Given the description of an element on the screen output the (x, y) to click on. 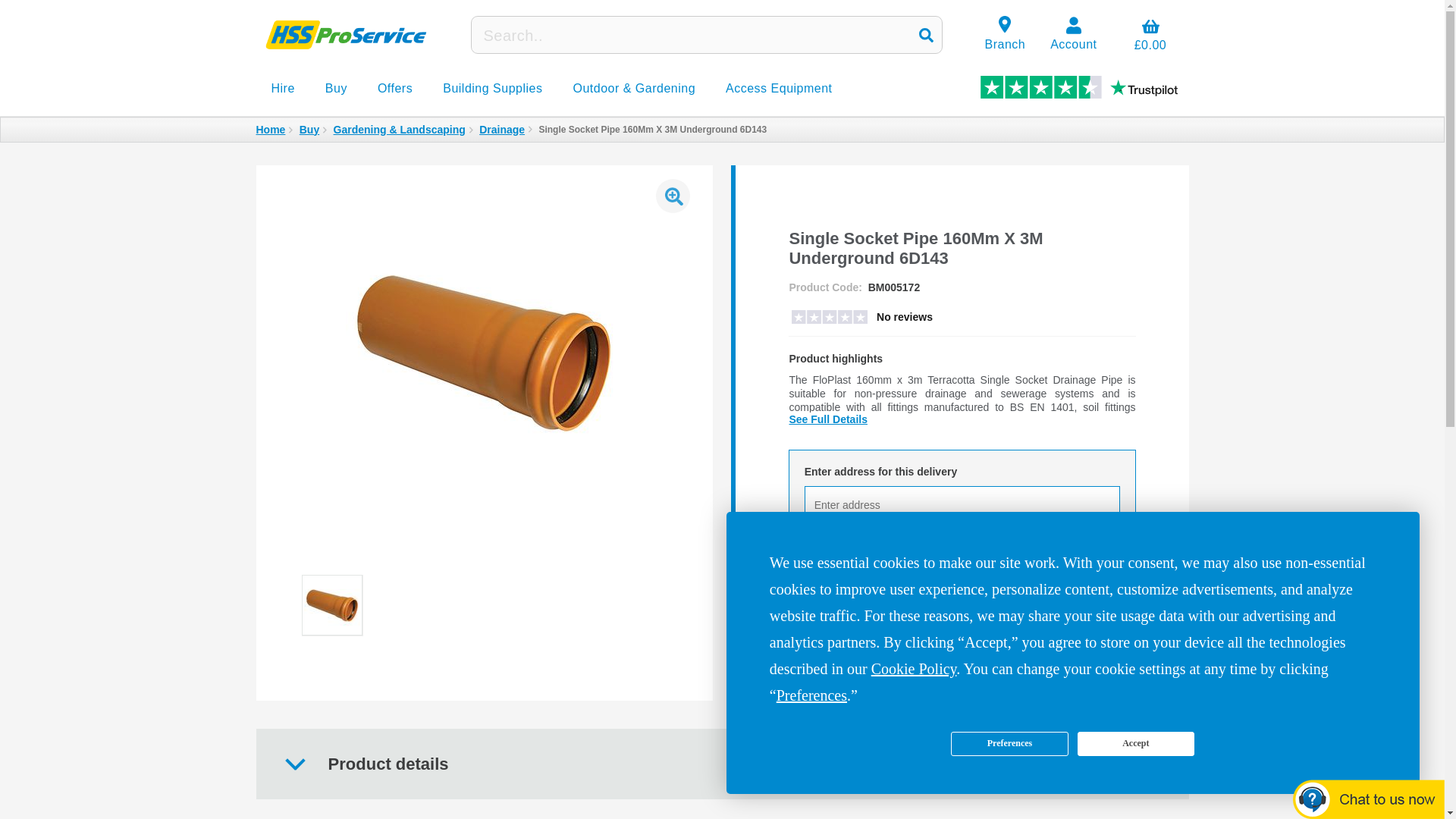
Branch (1004, 34)
Customer reviews powered by Trustpilot (861, 319)
1 (1062, 552)
Accept (1135, 743)
Preferences (1008, 743)
Trustpilot (1077, 87)
Hire (283, 88)
single-socket-pipe-160mm-x-3m-underground-6d143 (330, 604)
Enlarged view of picture (673, 195)
Enlarged view of picture (484, 351)
Account (1073, 34)
